Given the description of an element on the screen output the (x, y) to click on. 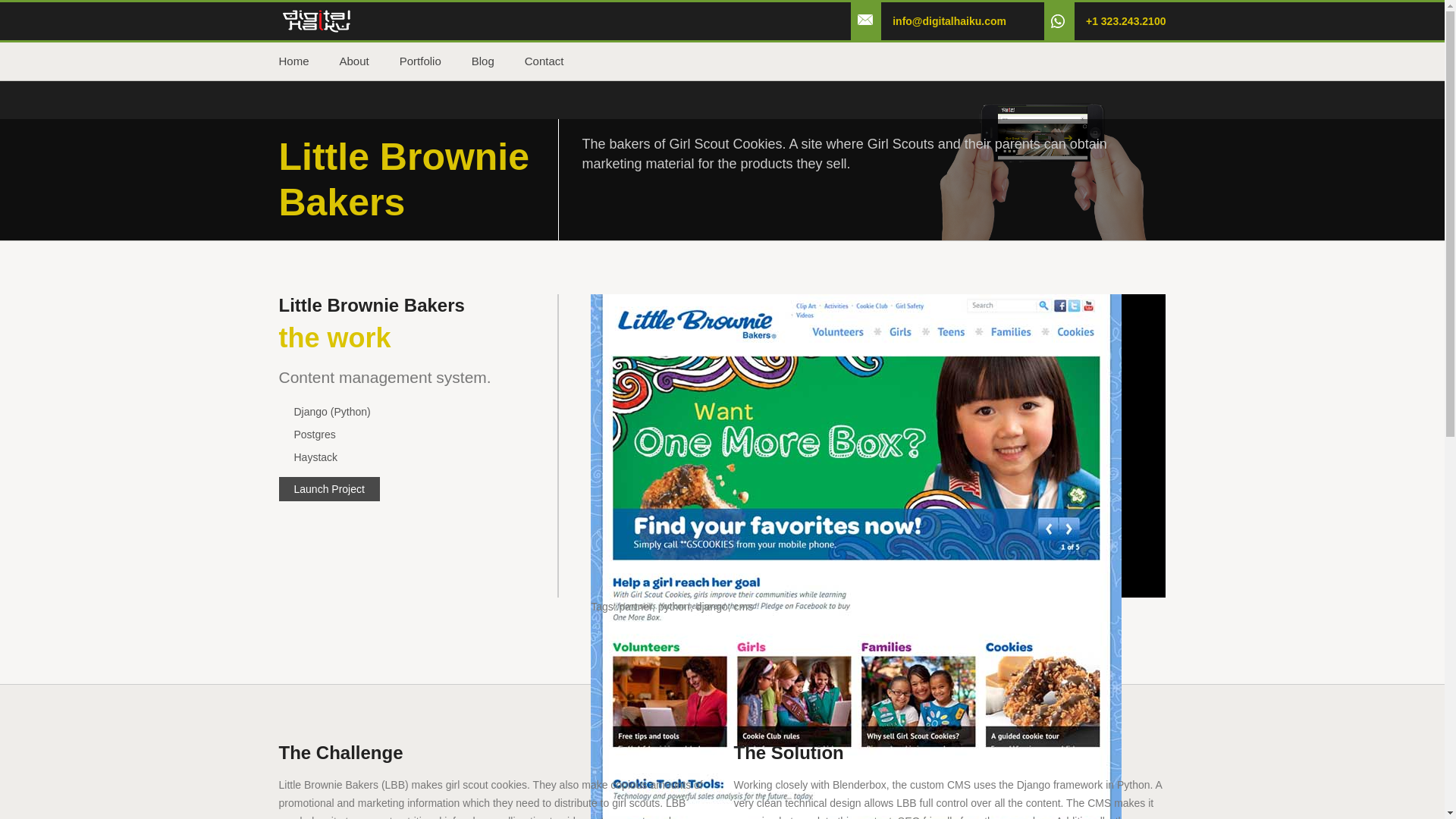
Blog (497, 61)
About (368, 61)
Back to Home (317, 20)
Contact (559, 61)
Portfolio (434, 61)
Launch Project (329, 488)
Home (309, 61)
